Given the description of an element on the screen output the (x, y) to click on. 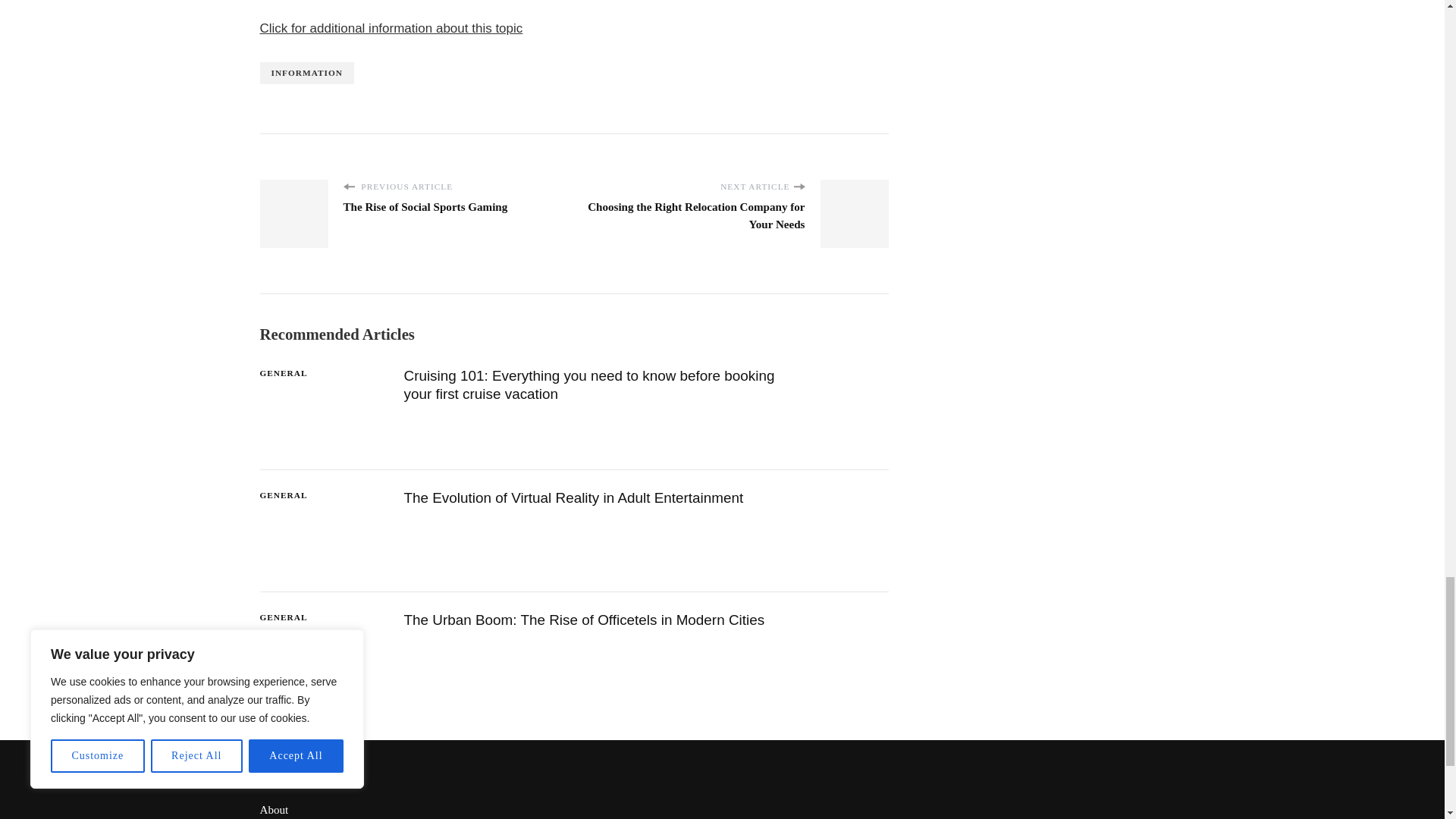
GENERAL (283, 373)
Click for additional information about this topic (390, 28)
INFORMATION (306, 73)
